Given the description of an element on the screen output the (x, y) to click on. 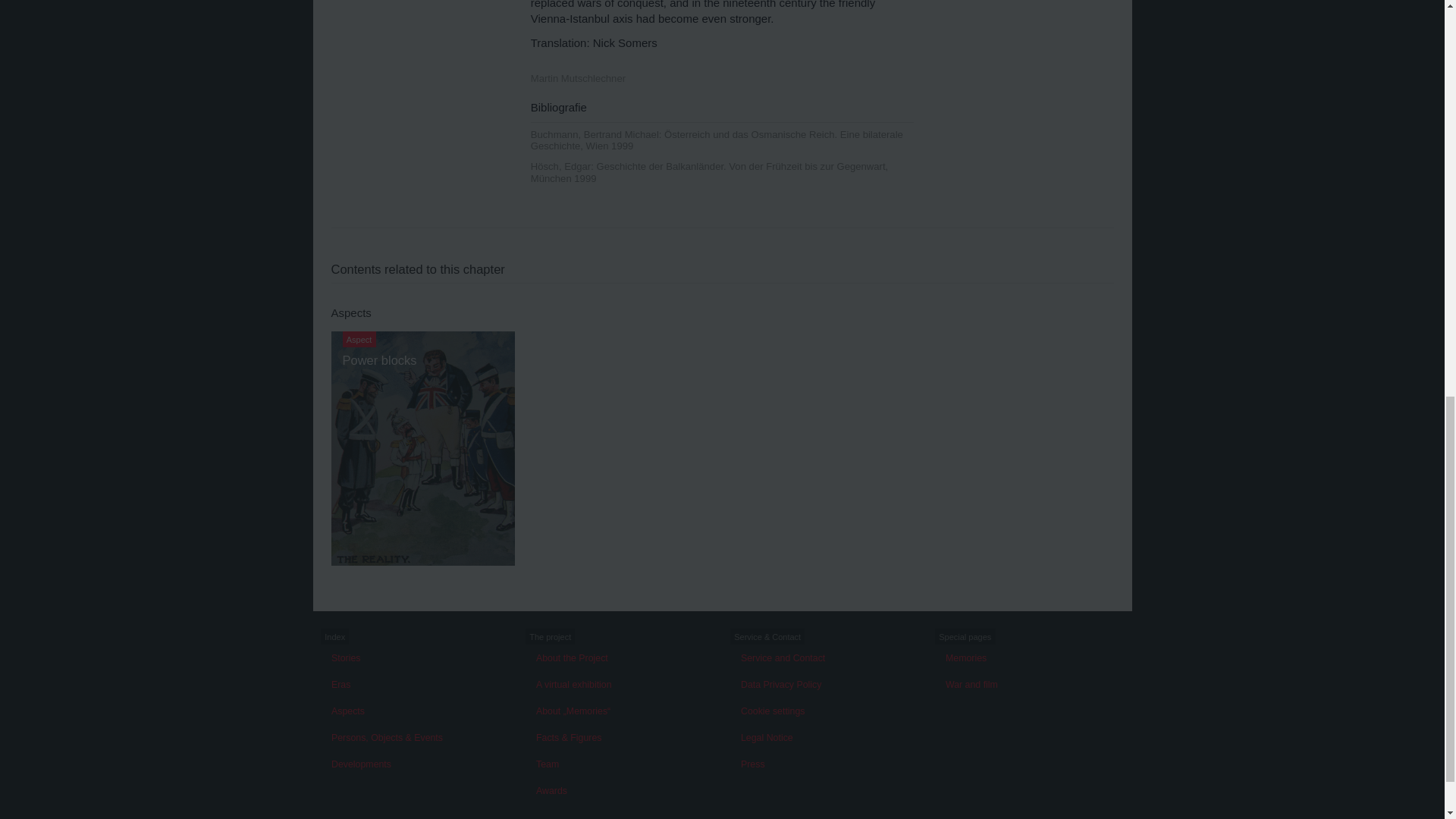
Martin Mutschlechner (578, 78)
